Given the description of an element on the screen output the (x, y) to click on. 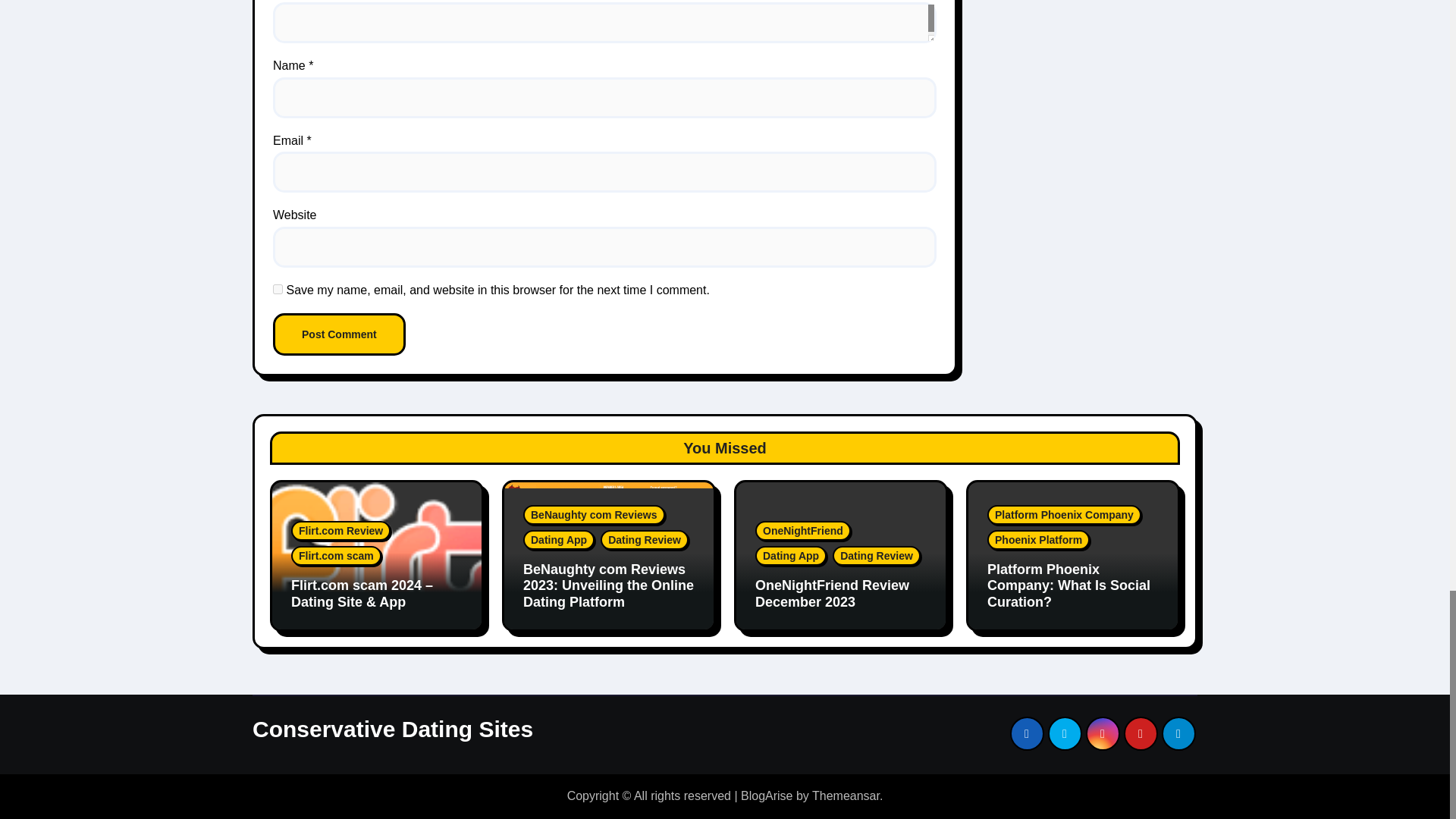
Post Comment (339, 333)
yes (277, 289)
Permalink to: OneNightFriend Review December 2023 (831, 593)
